Given the description of an element on the screen output the (x, y) to click on. 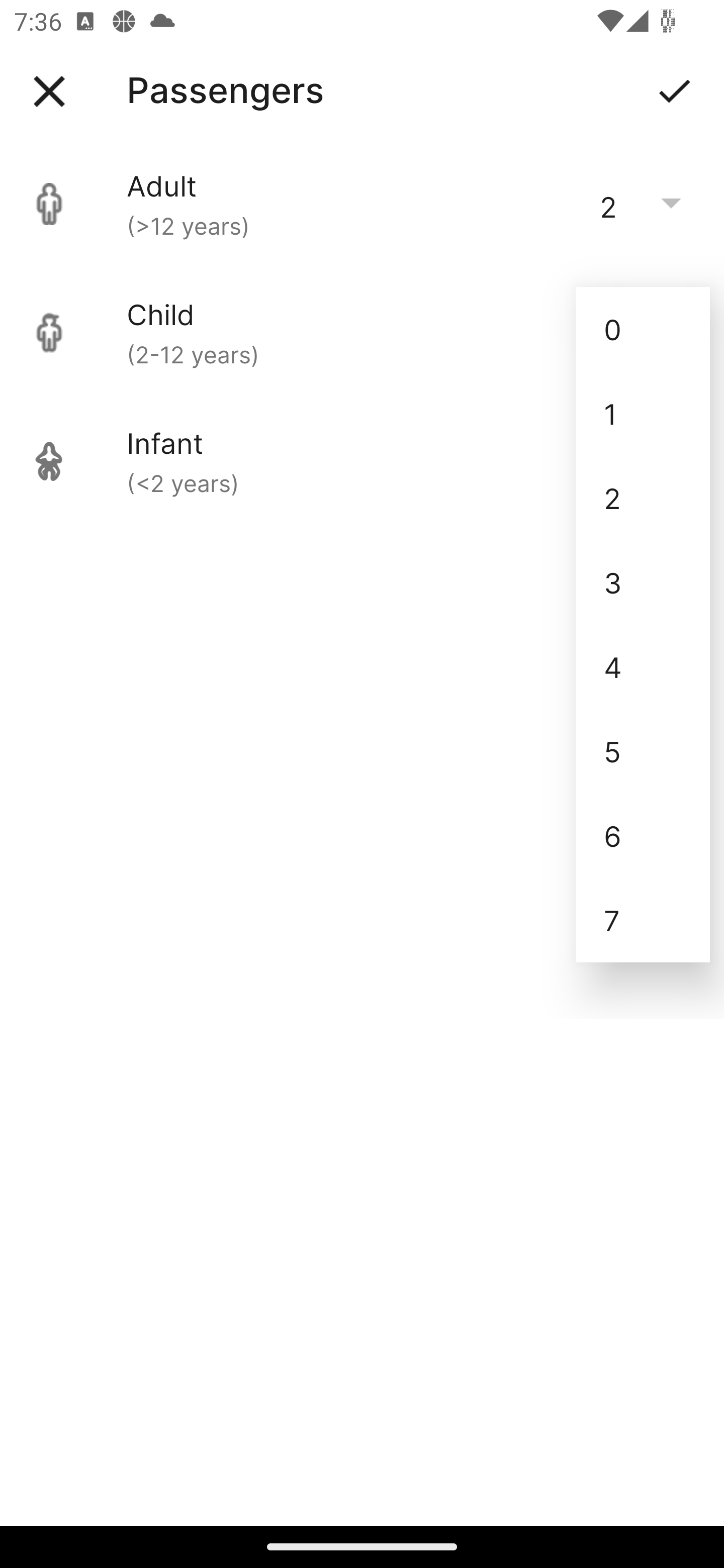
0 (642, 328)
1 (642, 413)
2 (642, 498)
3 (642, 582)
4 (642, 666)
5 (642, 750)
6 (642, 835)
7 (642, 920)
